Given the description of an element on the screen output the (x, y) to click on. 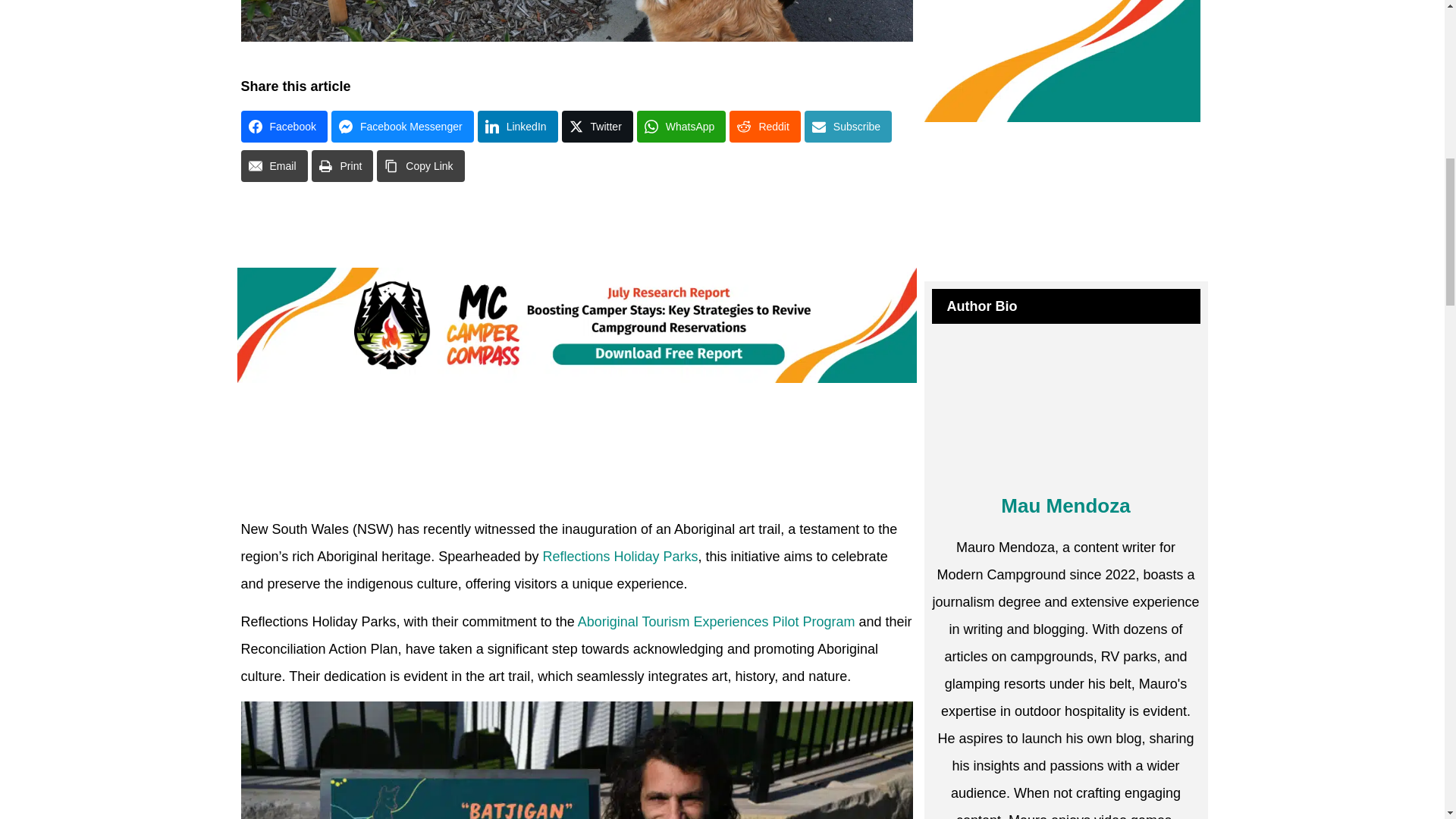
Share on Facebook Messenger (402, 126)
Share on Subscribe (848, 126)
Share on Reddit (764, 126)
Share on LinkedIn (517, 126)
Share on Email (274, 165)
Share on Copy Link (420, 165)
Share on Twitter (597, 126)
Share on Print (342, 165)
Share on Facebook (284, 126)
Share on WhatsApp (681, 126)
